Given the description of an element on the screen output the (x, y) to click on. 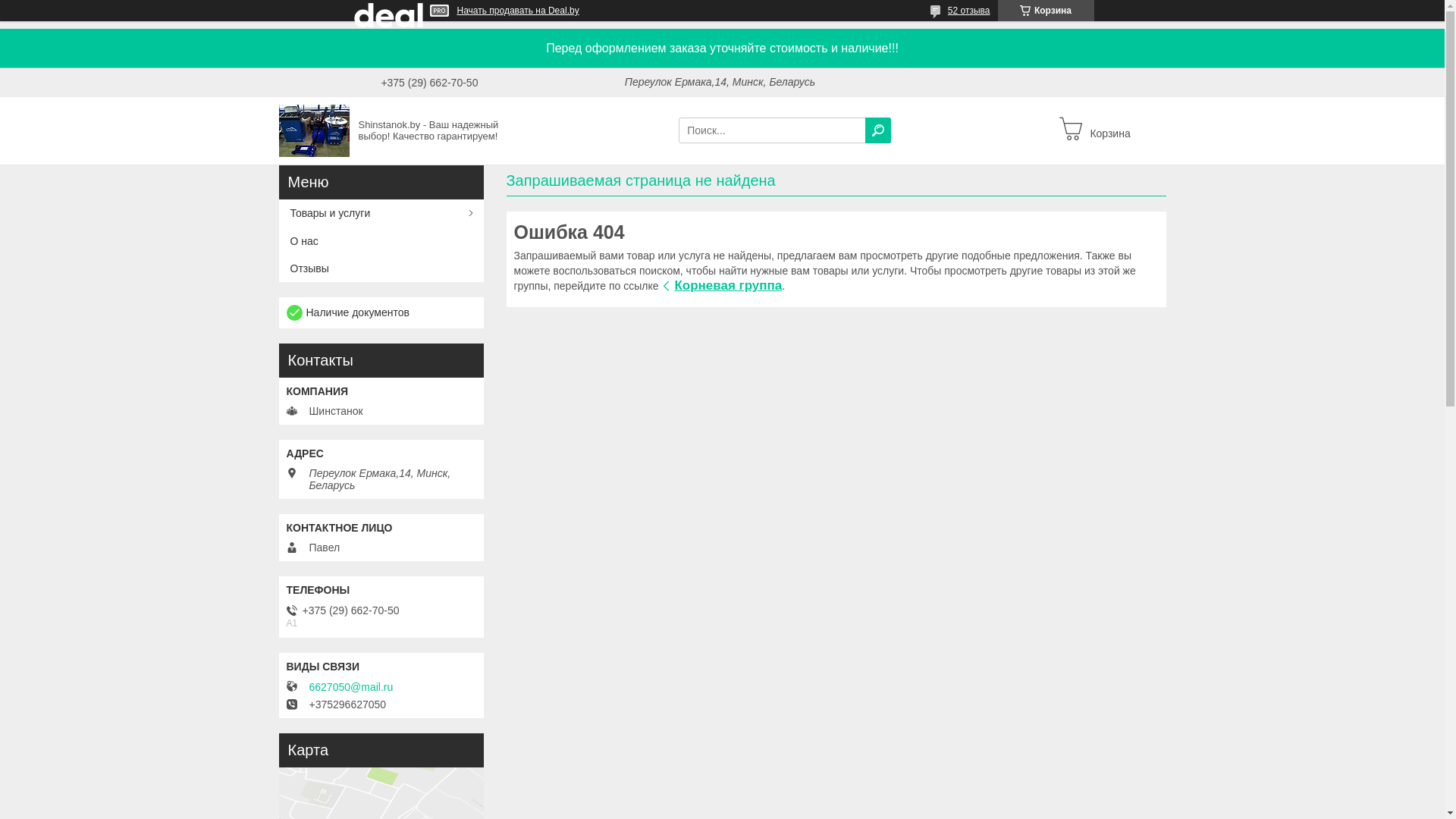
6627050@mail.ru Element type: text (351, 686)
